Given the description of an element on the screen output the (x, y) to click on. 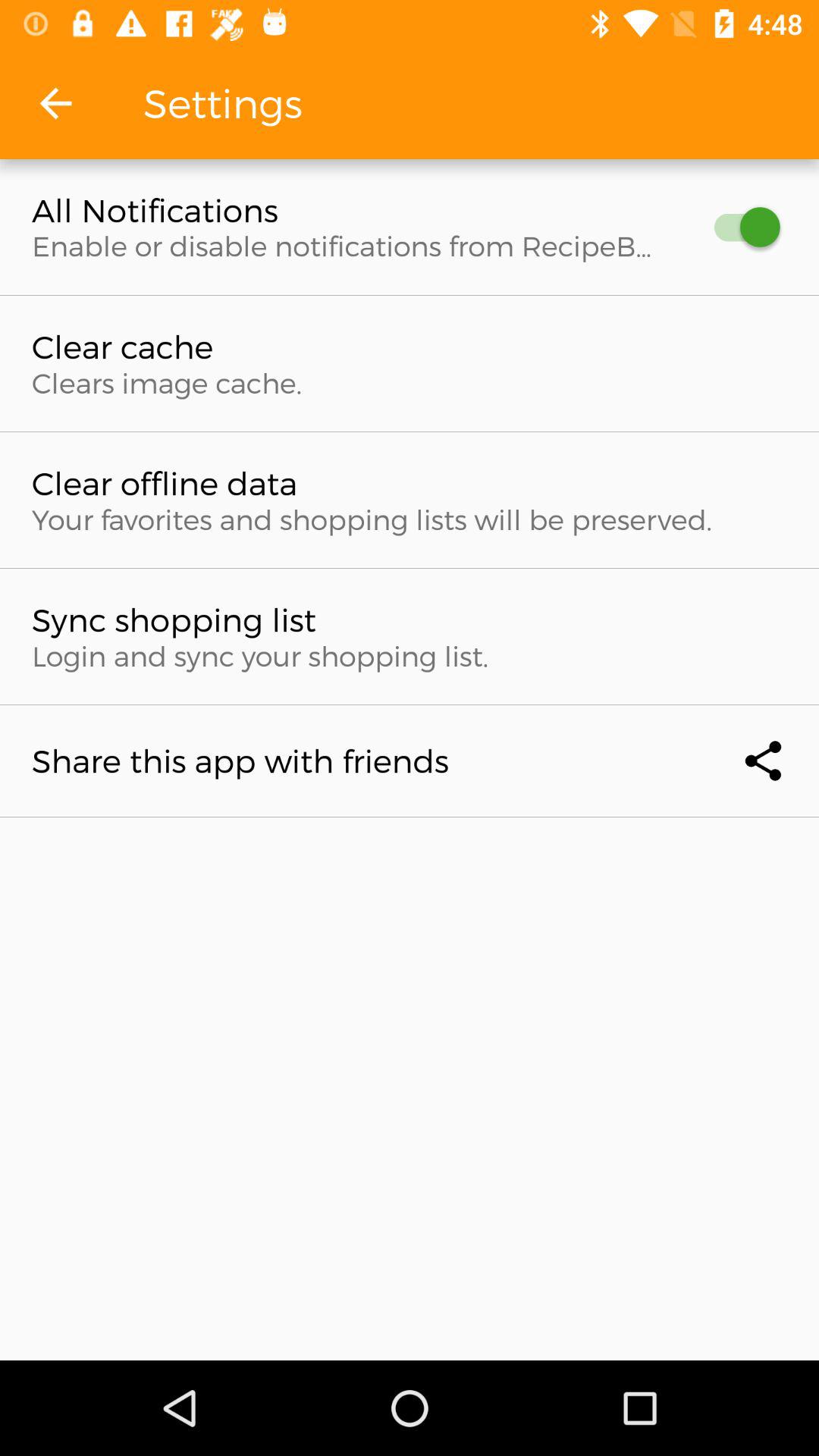
scroll until the share this app (409, 760)
